Given the description of an element on the screen output the (x, y) to click on. 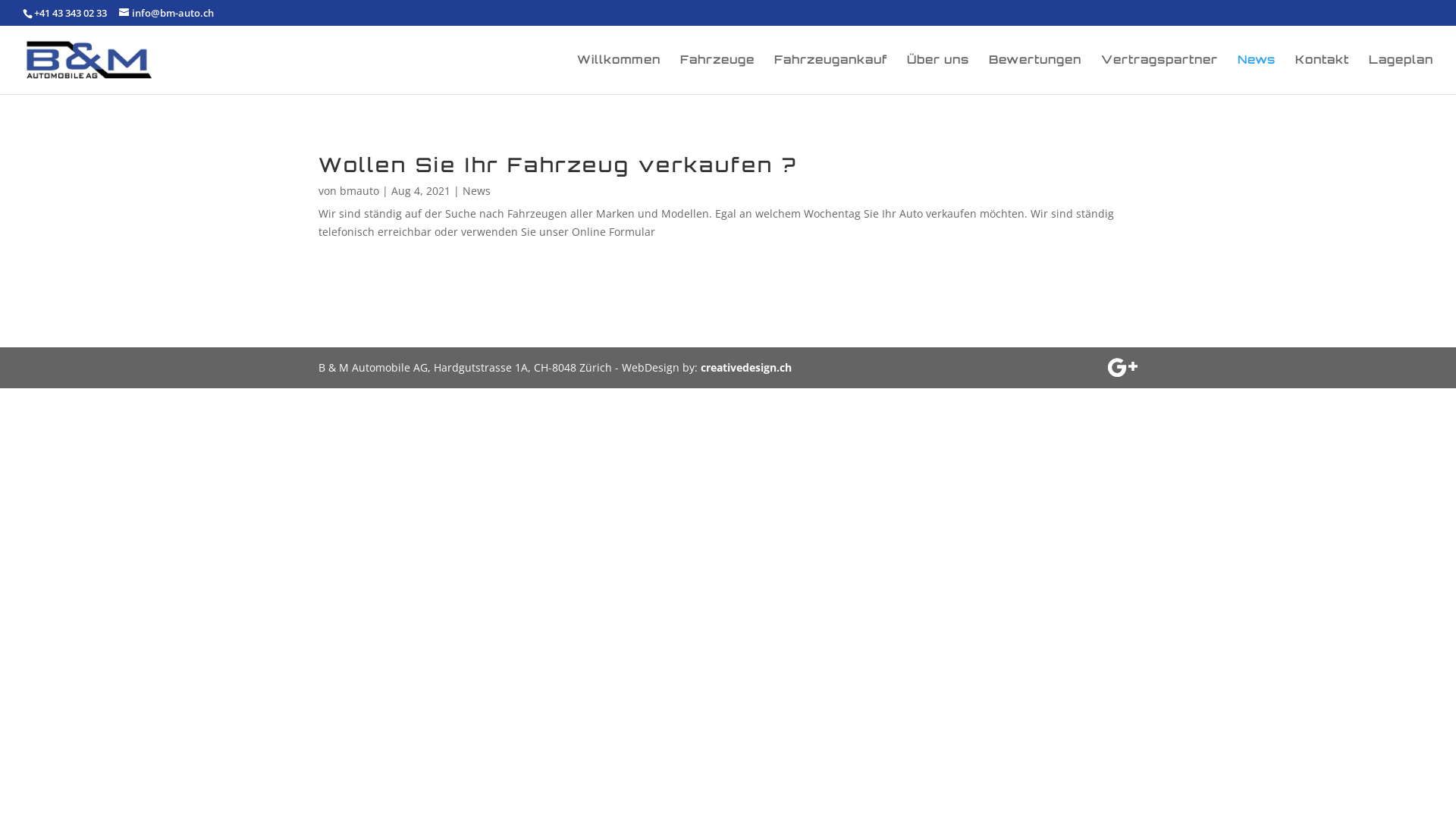
News Element type: text (476, 190)
creativedesign.ch Element type: text (745, 367)
Fahrzeuge Element type: text (717, 74)
Wollen Sie Ihr Fahrzeug verkaufen ? Element type: text (557, 164)
Vertragspartner Element type: text (1159, 74)
Lageplan Element type: text (1400, 74)
Willkommen Element type: text (618, 74)
Kontakt Element type: text (1322, 74)
bmauto Element type: text (359, 190)
Fahrzeugankauf Element type: text (830, 74)
Bewertungen Element type: text (1034, 74)
News Element type: text (1256, 74)
info@bm-auto.ch Element type: text (166, 12)
